Given the description of an element on the screen output the (x, y) to click on. 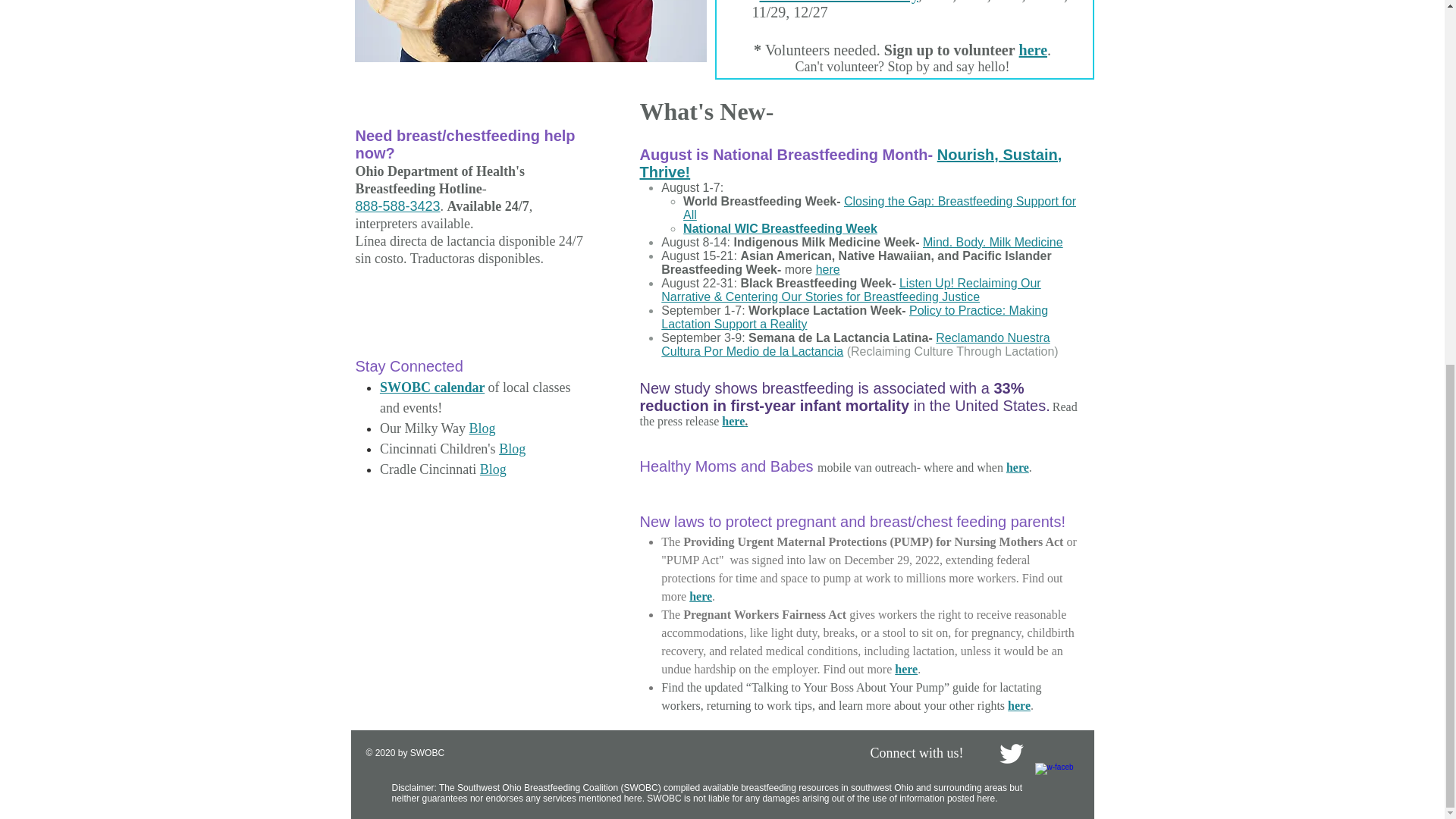
here (1032, 49)
SWOBC calendar (432, 387)
Blog (482, 427)
Nourish, Sustain, Thrive! (851, 163)
Closing the Gap: Breastfeeding Support for All (878, 207)
Heart of Hamilton County (839, 1)
Blog (493, 468)
National WIC Breastfeeding Week (779, 228)
Blog (512, 448)
